Given the description of an element on the screen output the (x, y) to click on. 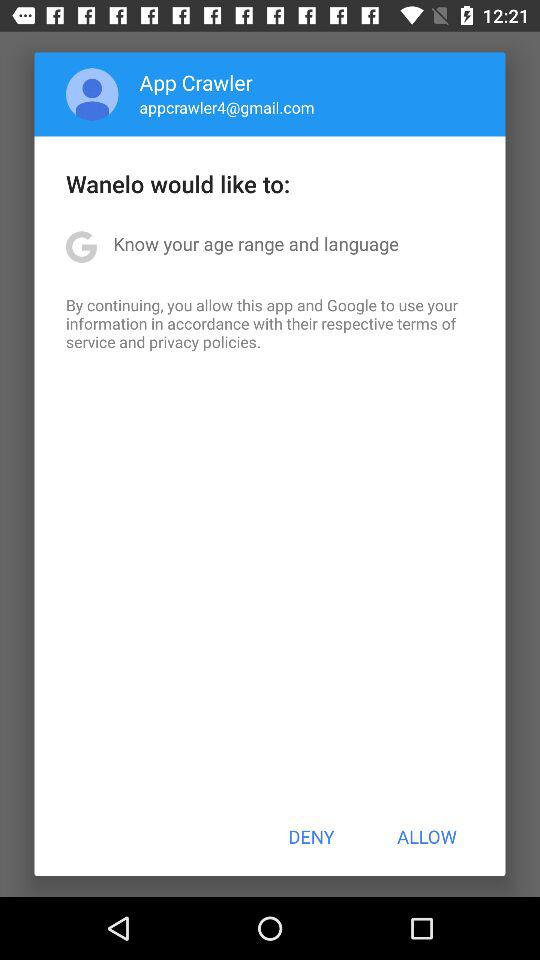
turn on the app above the appcrawler4@gmail.com (195, 82)
